Given the description of an element on the screen output the (x, y) to click on. 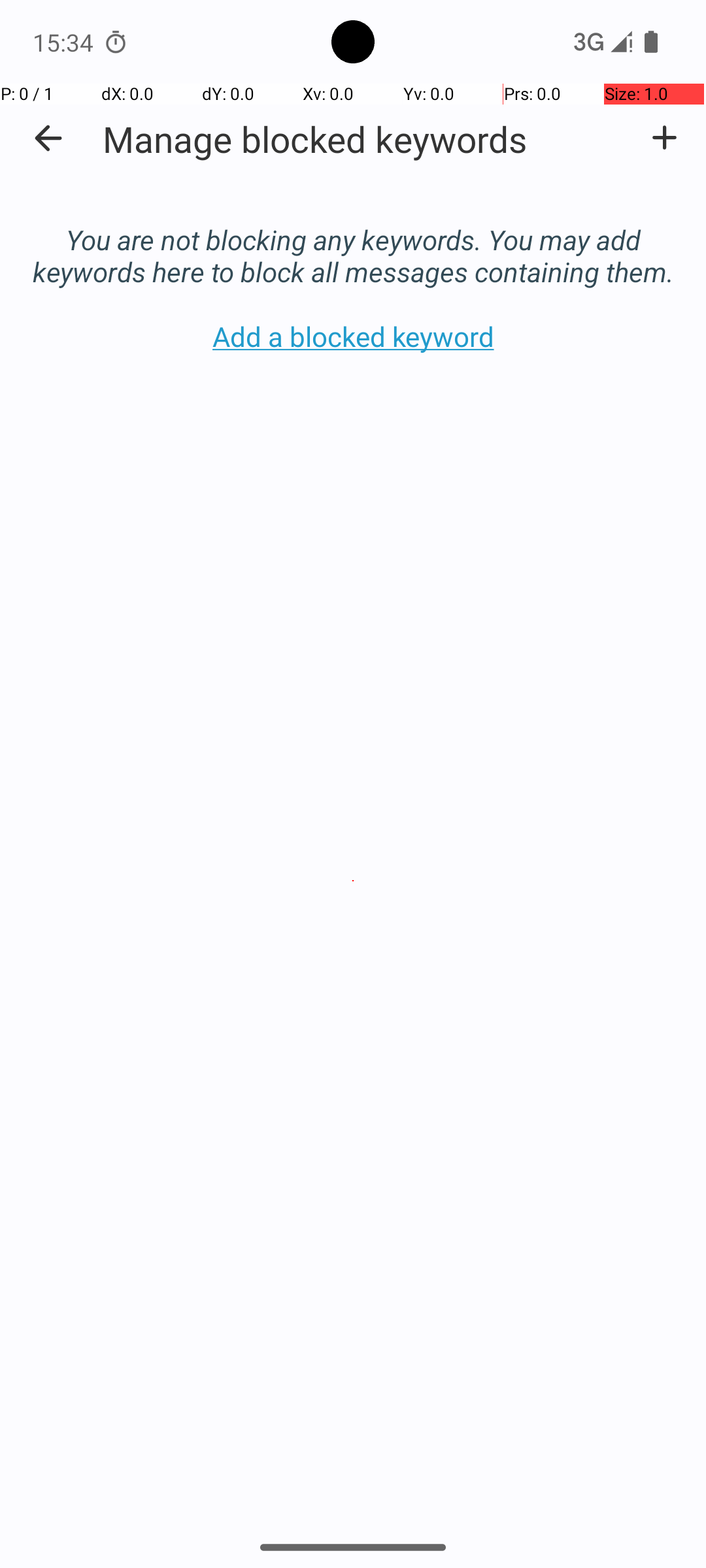
Add a blocked keyword Element type: android.widget.Button (664, 137)
You are not blocking any keywords. You may add keywords here to block all messages containing them. Element type: android.widget.TextView (353, 241)
